Given the description of an element on the screen output the (x, y) to click on. 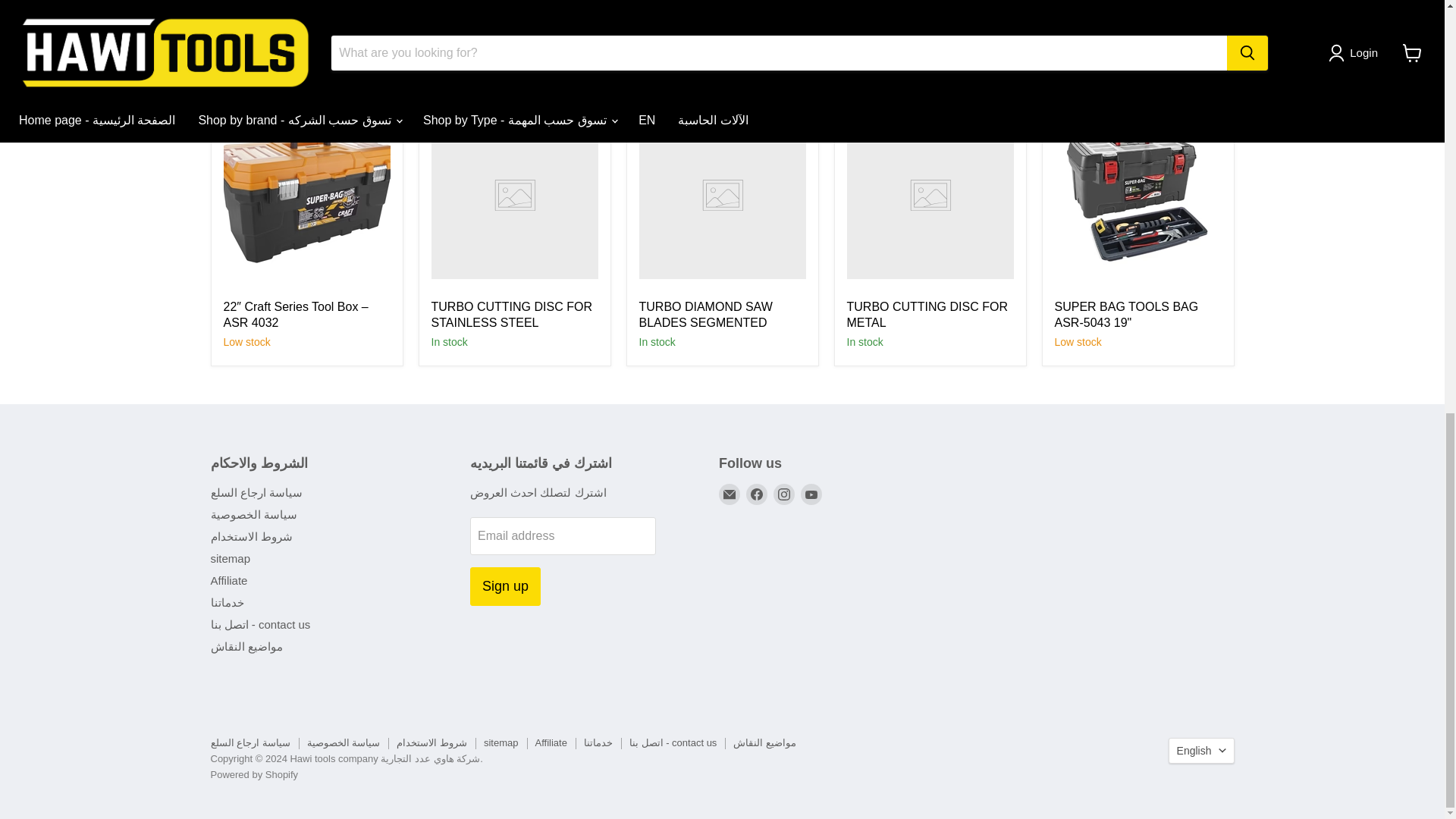
YouTube (811, 494)
Facebook (756, 494)
E-mail (729, 494)
Instagram (783, 494)
